Given the description of an element on the screen output the (x, y) to click on. 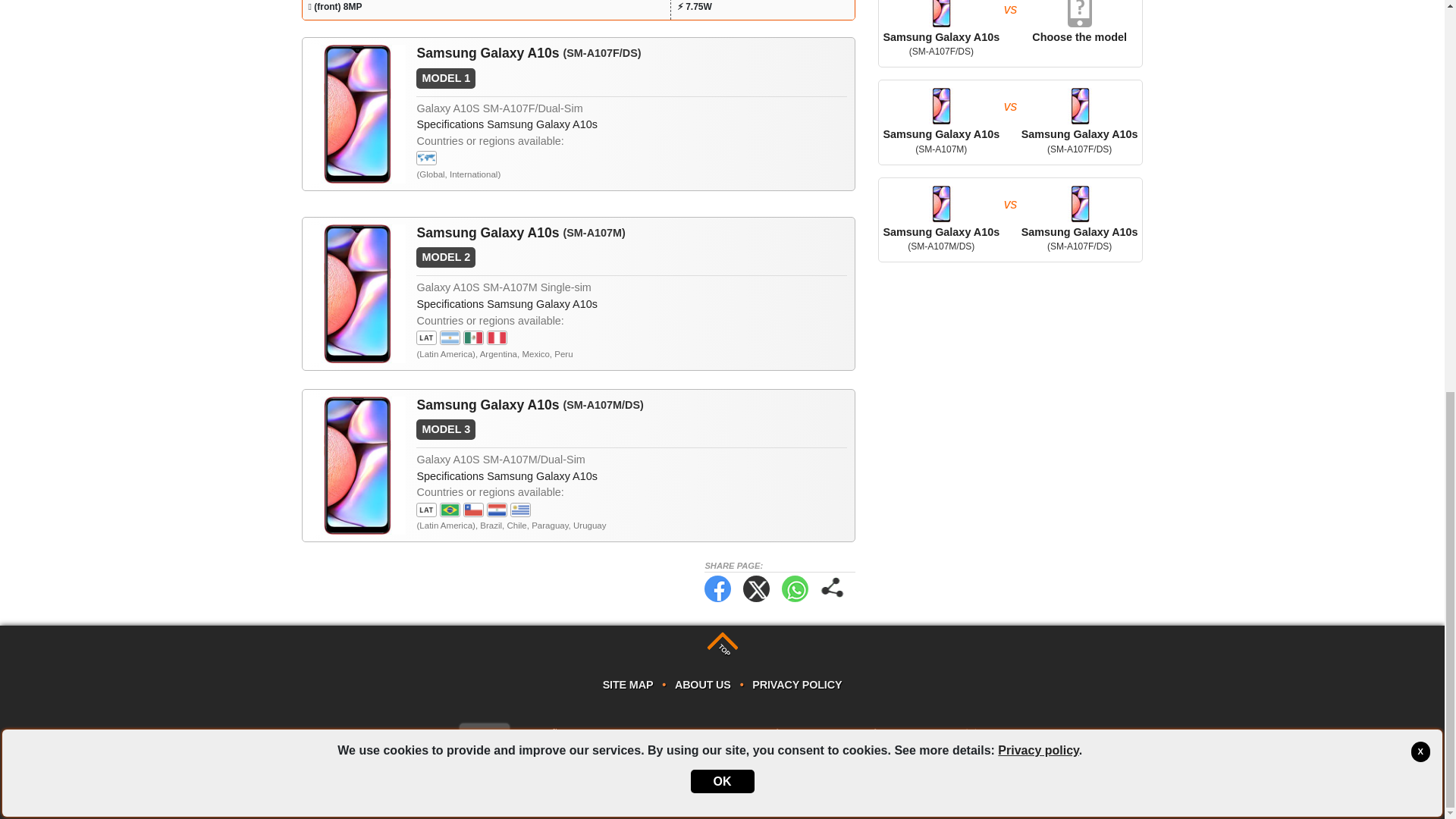
Argentina (449, 337)
Twitter (756, 588)
Specifications Samsung Galaxy A10s (506, 476)
Specifications Samsung Galaxy A10s (506, 304)
Specifications Samsung Galaxy A10s (506, 123)
Peru (496, 337)
Chile (473, 509)
Brazil (449, 509)
Mexico (473, 337)
Share page: (832, 588)
